Given the description of an element on the screen output the (x, y) to click on. 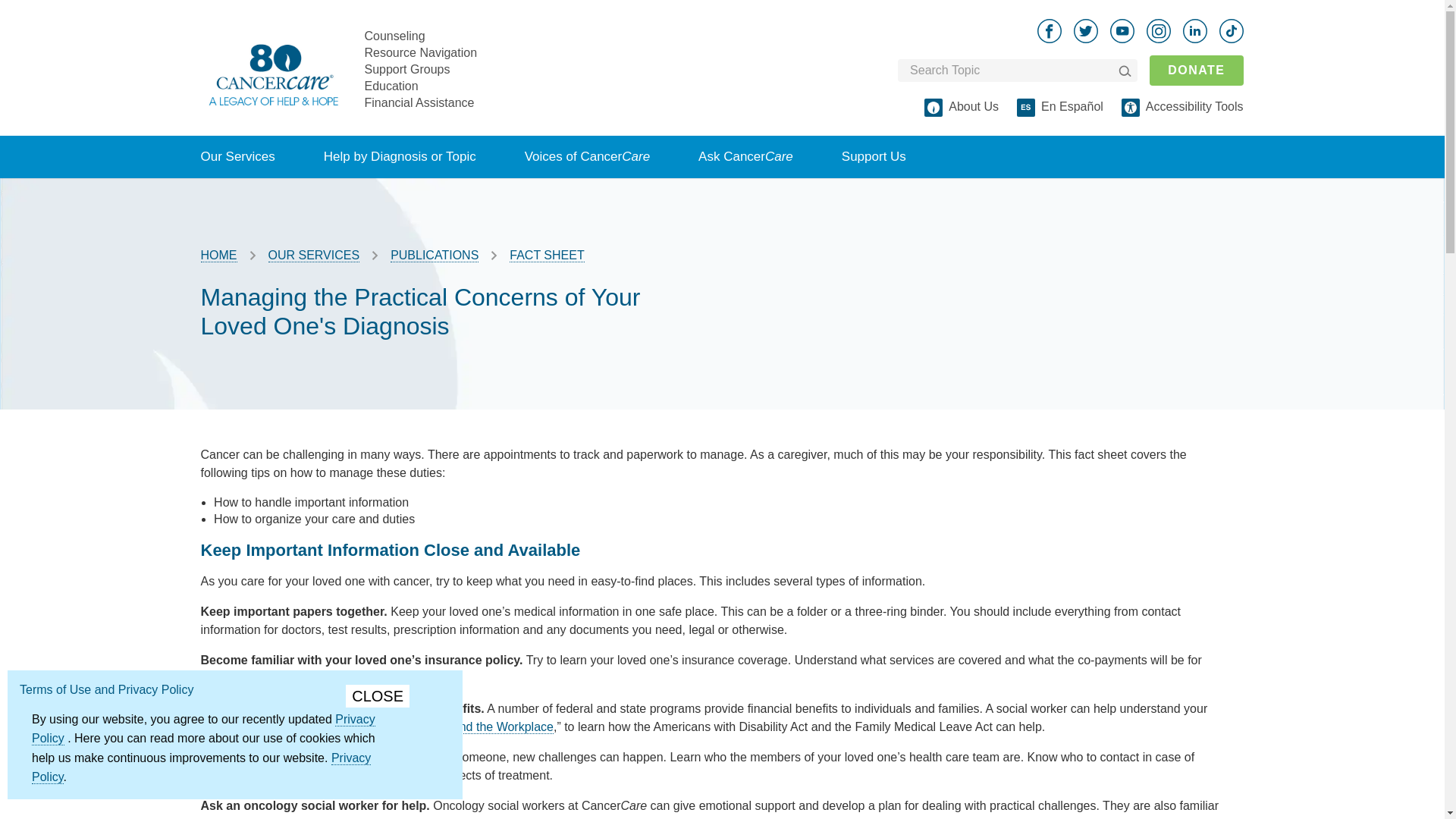
Tap or click here to open our YouTube page in a new window (1121, 30)
Counseling (394, 34)
Tap or click here to open our Tiktok page in a new window (1231, 30)
Financial Assistance (419, 101)
YouTube (1121, 30)
Our Services (237, 156)
Tap or click here to open our Instagram page in a new window (1158, 30)
Twitter (1085, 30)
Facebook (1048, 30)
Resource Navigation (420, 51)
Tiktok (1231, 30)
Tap or click here to open our LinkedIn page in a new window (1194, 30)
Tap or click here to open our Facebook page in a new window (1048, 30)
About Us (973, 106)
Tap or click here to open our Twitter page in a new window (1085, 30)
